Given the description of an element on the screen output the (x, y) to click on. 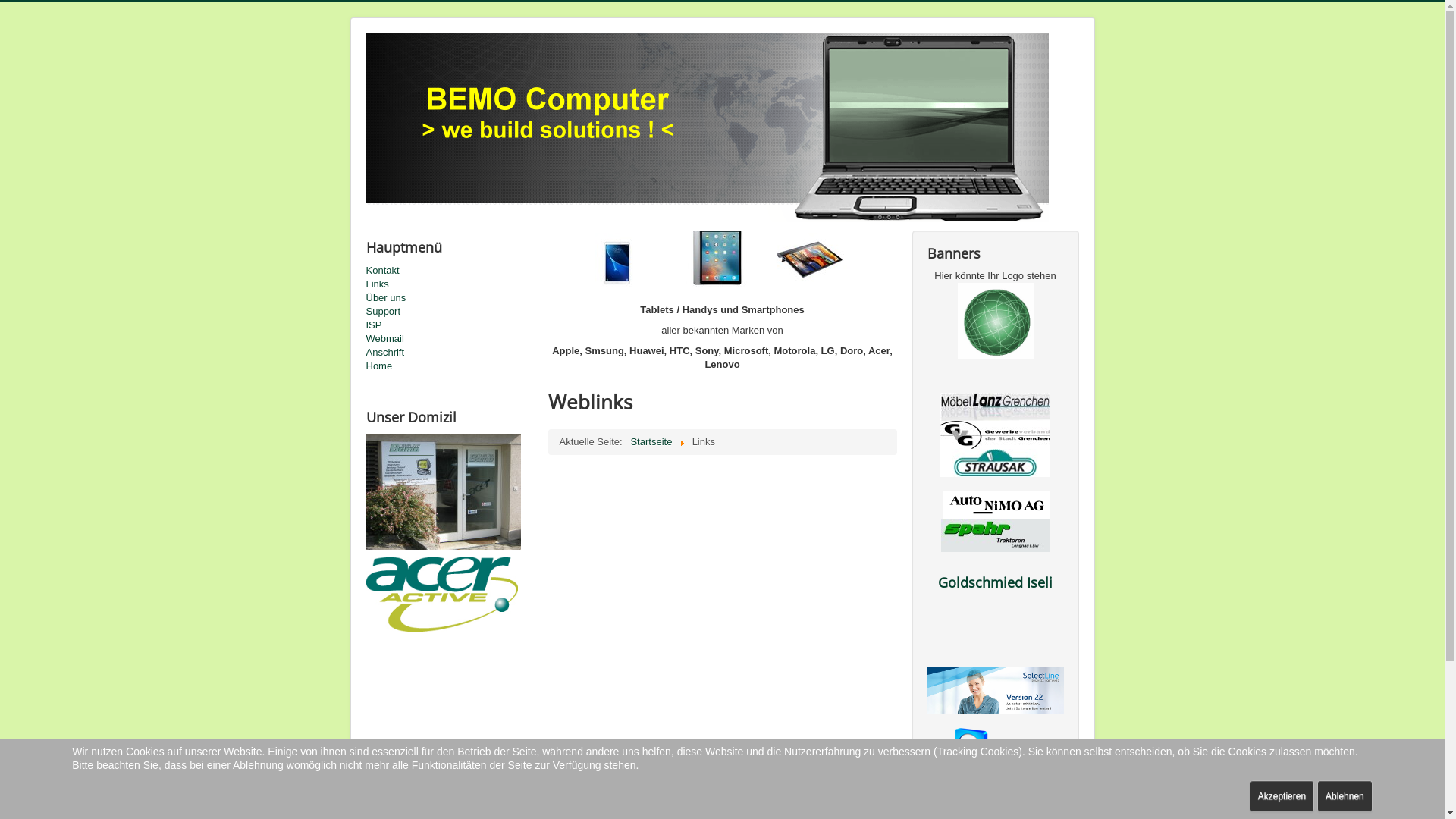
Auto NiMo AG Element type: hover (996, 503)
Startseite Element type: text (650, 441)
Teamviewer Support BEMO Element type: hover (994, 750)
Goldschmied Iseli Element type: text (995, 582)
Kontakt Element type: text (448, 270)
Webmail Element type: text (448, 338)
  Element type: text (995, 646)
Download Teamviewer Element type: hover (995, 646)
Support Element type: text (448, 311)
Home Element type: text (448, 366)
ISP Element type: text (448, 325)
Fritz Spahr AG Element type: hover (994, 533)
Links Element type: text (448, 284)
Ablehnen Element type: text (1344, 796)
Anschrift Element type: text (448, 352)
Akzeptieren Element type: text (1281, 796)
